Given the description of an element on the screen output the (x, y) to click on. 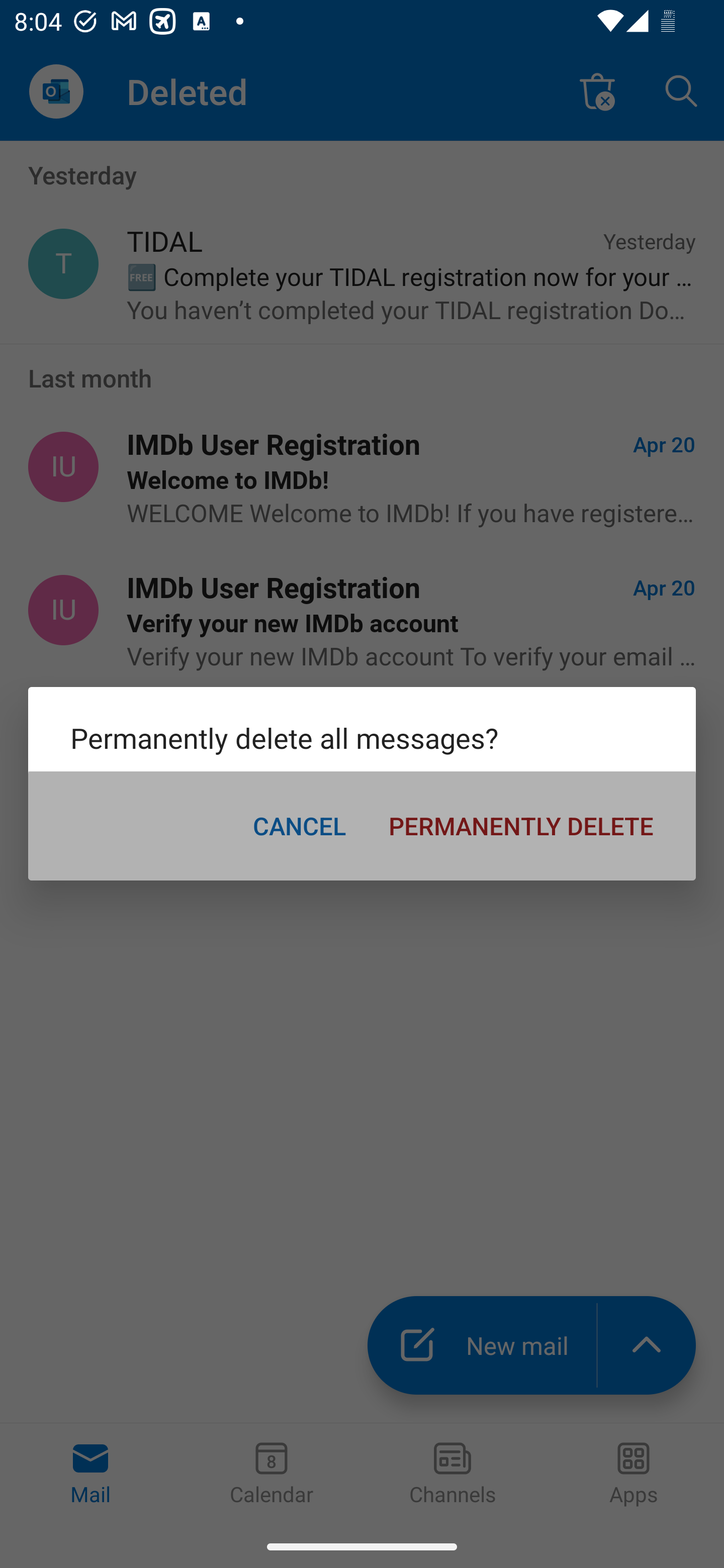
CANCEL (299, 825)
PERMANENTLY DELETE (520, 825)
